Given the description of an element on the screen output the (x, y) to click on. 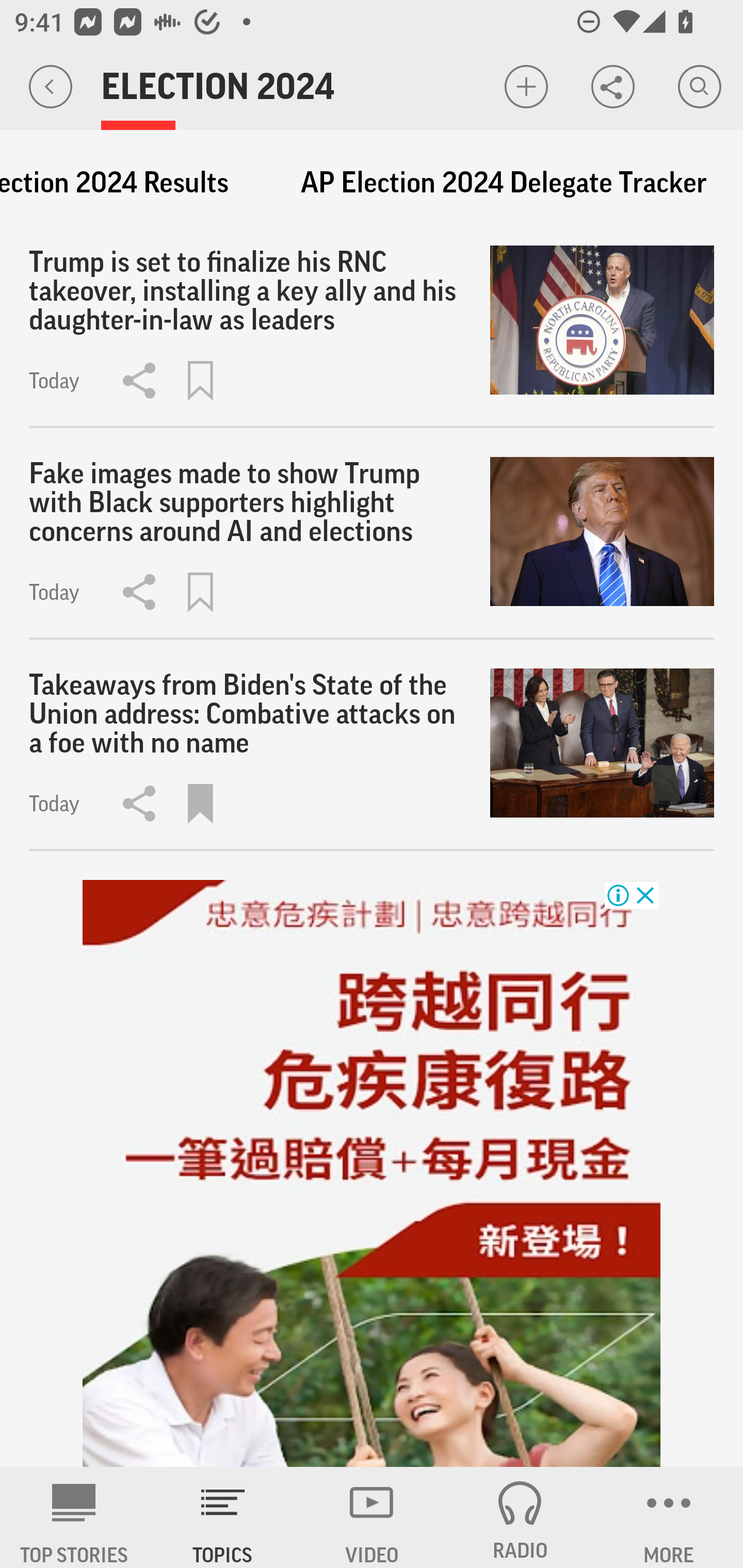
AP Election 2024 Results (123, 182)
AP Election 2024 Delegate Tracker (504, 182)
AP News TOP STORIES (74, 1517)
TOPICS (222, 1517)
VIDEO (371, 1517)
RADIO (519, 1517)
MORE (668, 1517)
